Given the description of an element on the screen output the (x, y) to click on. 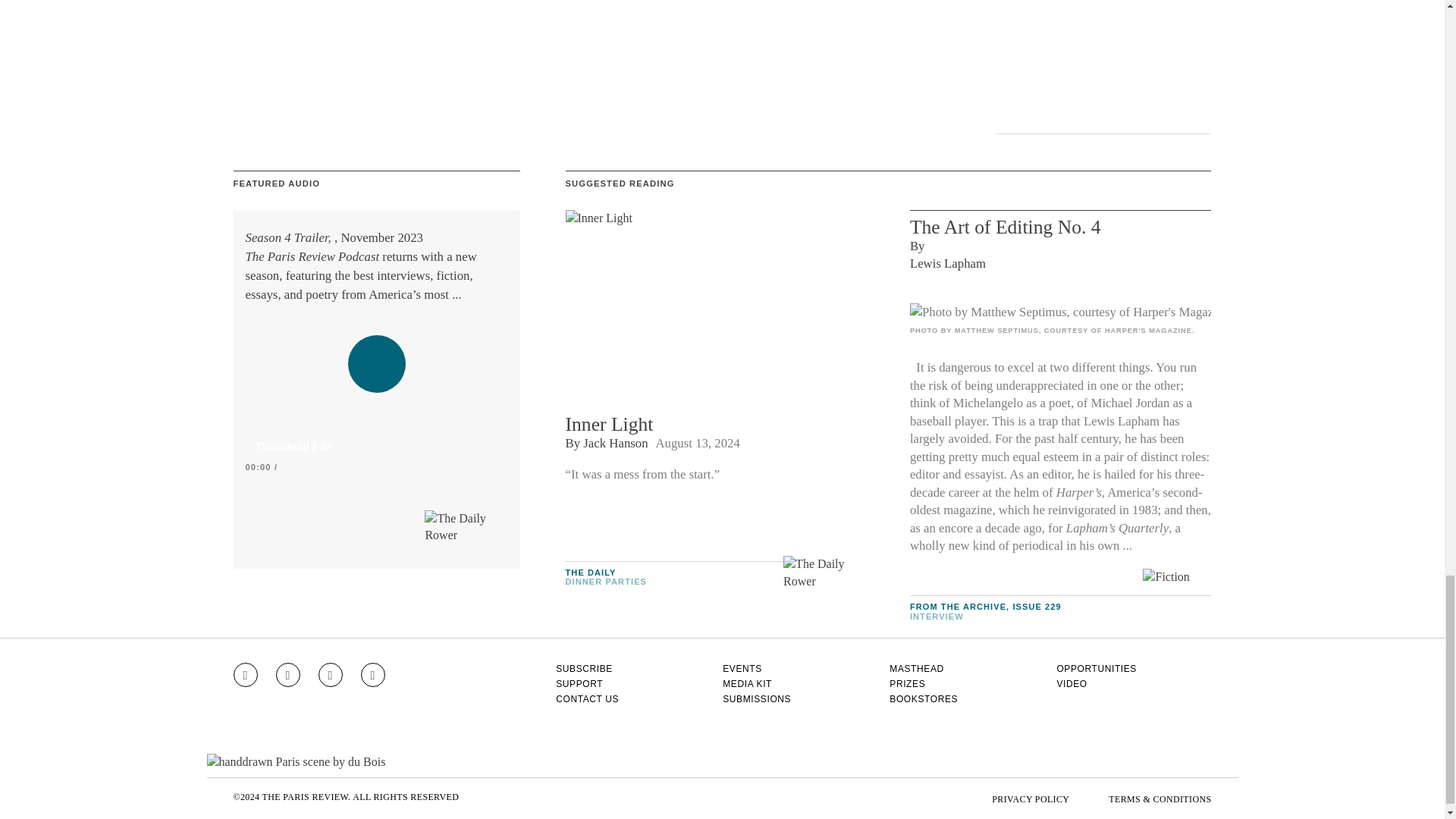
undefined (1060, 312)
Go to Instagram feed (244, 674)
Go to RSS feed (373, 674)
Go to Twitter feed (330, 674)
Go to Facebook page (287, 674)
